Given the description of an element on the screen output the (x, y) to click on. 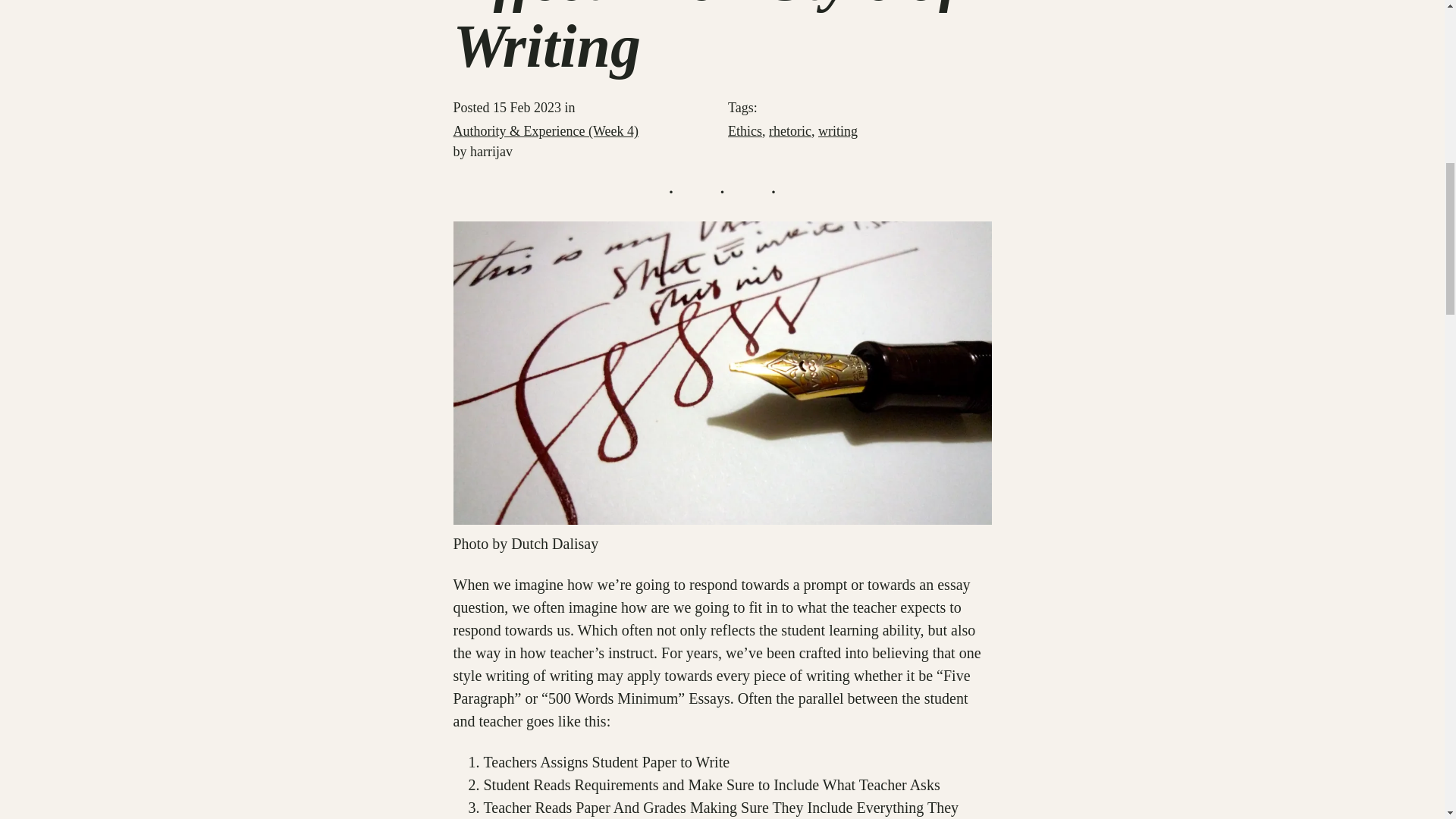
writing (837, 130)
Ethics (744, 130)
rhetoric (789, 130)
